Given the description of an element on the screen output the (x, y) to click on. 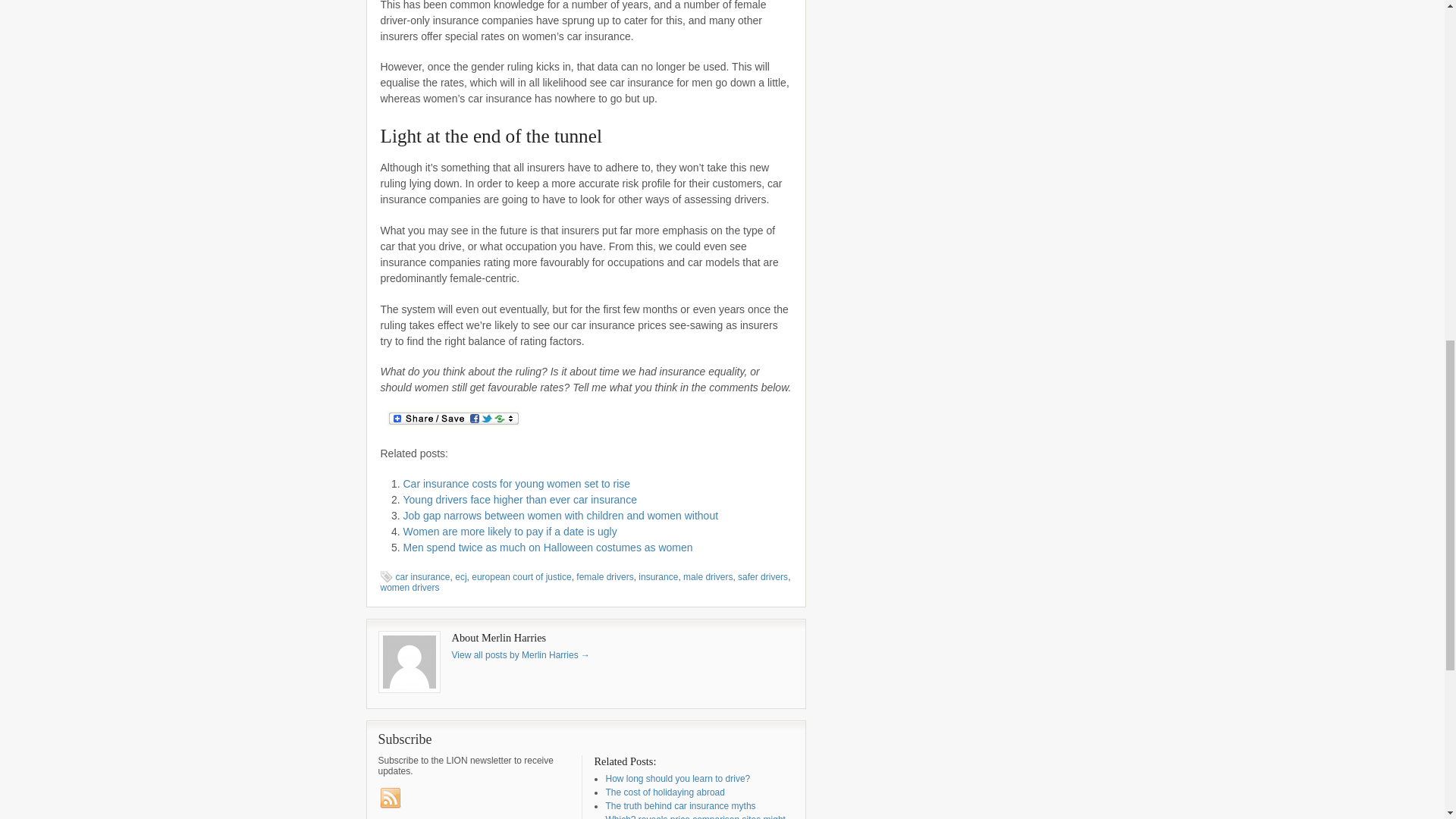
safer drivers (762, 576)
Men spend twice as much on Halloween costumes as women (548, 547)
european court of justice (520, 576)
male drivers (707, 576)
How long should you learn to drive? (677, 778)
Men spend twice as much on Halloween costumes as women (548, 547)
Young drivers face higher than ever car insurance (520, 499)
The truth behind car insurance myths (680, 805)
car insurance (422, 576)
Car insurance costs for young women set to rise (516, 483)
The cost of holidaying abroad (664, 792)
Women are more likely to pay if a date is ugly (510, 531)
